Given the description of an element on the screen output the (x, y) to click on. 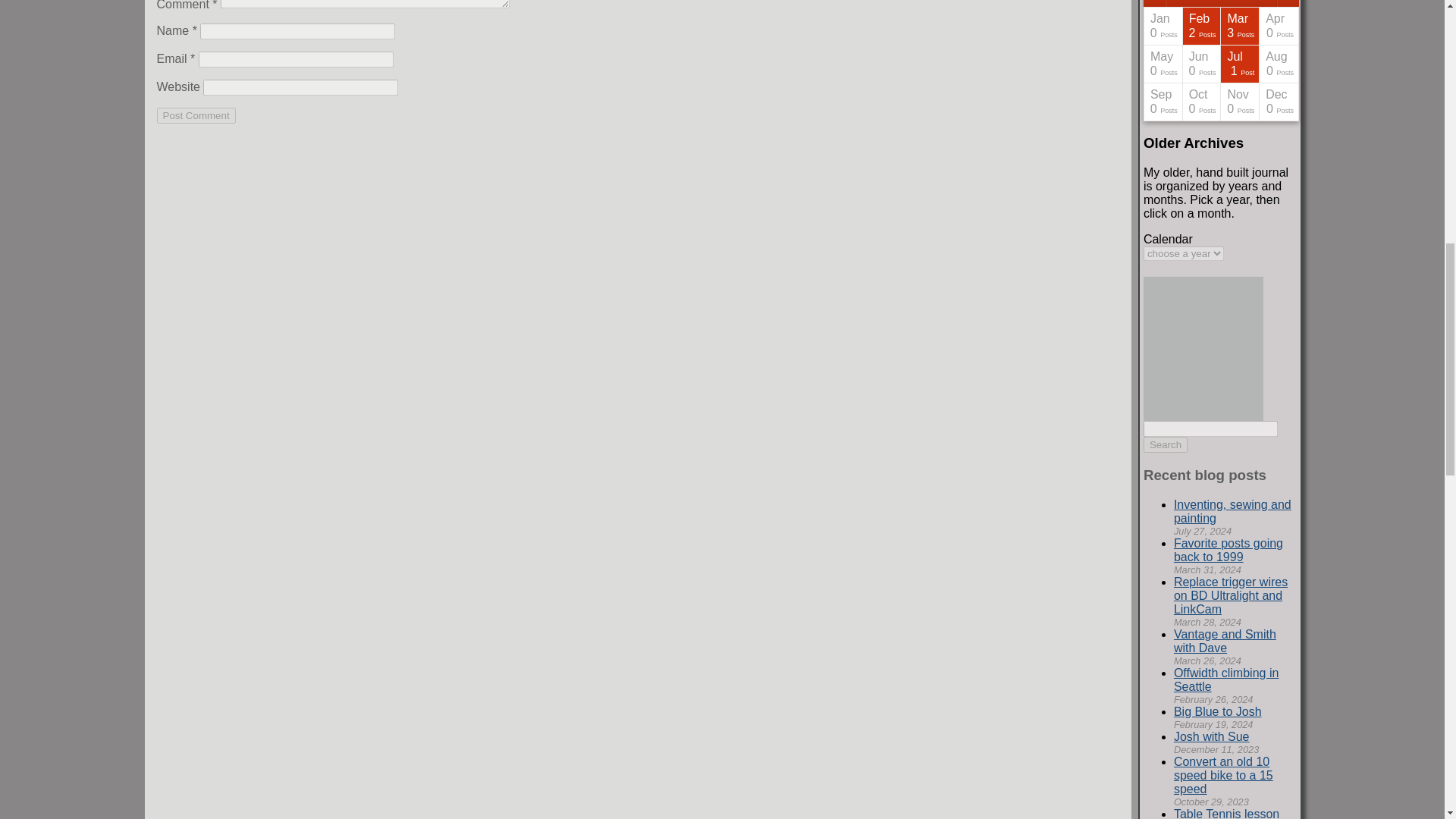
Post Comment (194, 115)
December, 2023 - 1 Post (1124, 101)
2024 (1221, 3)
February, 2024 - 2 Posts (1201, 26)
April, 2023 - 1 Post (1124, 26)
July, 2024 - 1 Post (1240, 63)
Post Comment (194, 115)
March, 2024 - 3 Posts (1240, 26)
August, 2023 - 1 Post (1124, 63)
Search (1165, 444)
